Given the description of an element on the screen output the (x, y) to click on. 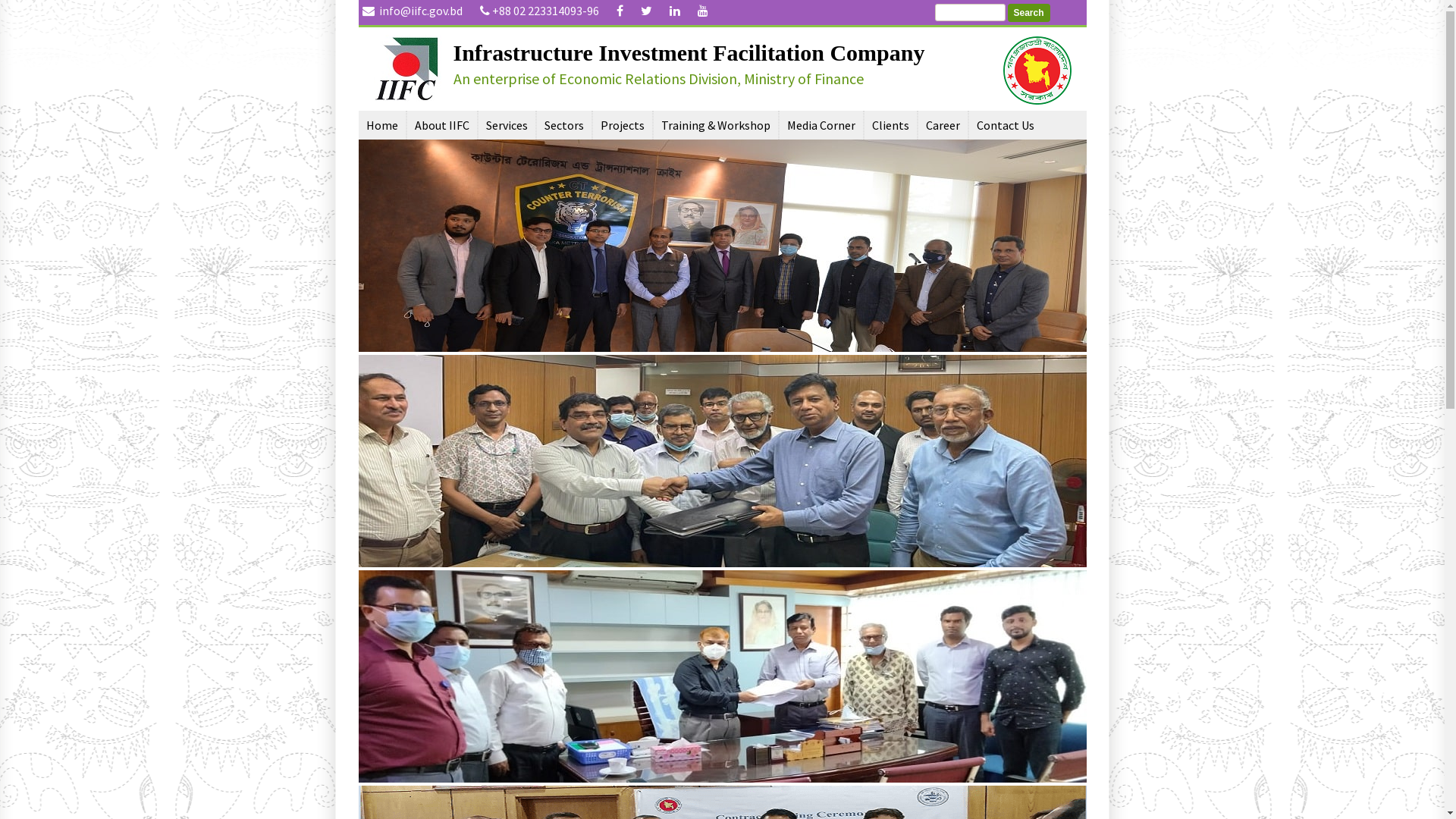
About IIFC Element type: text (441, 124)
Services Element type: text (505, 124)
 +88 02 223314093-96 Element type: text (546, 10)
Search Element type: text (1028, 12)
Projects Element type: text (622, 124)
Clients Element type: text (890, 124)
  info@iifc.gov.bd Element type: text (419, 10)
Sectors Element type: text (563, 124)
Training & Workshop Element type: text (715, 124)
Media Corner Element type: text (820, 124)
Home Element type: text (380, 124)
Contact Us Element type: text (1005, 124)
Career Element type: text (941, 124)
